Given the description of an element on the screen output the (x, y) to click on. 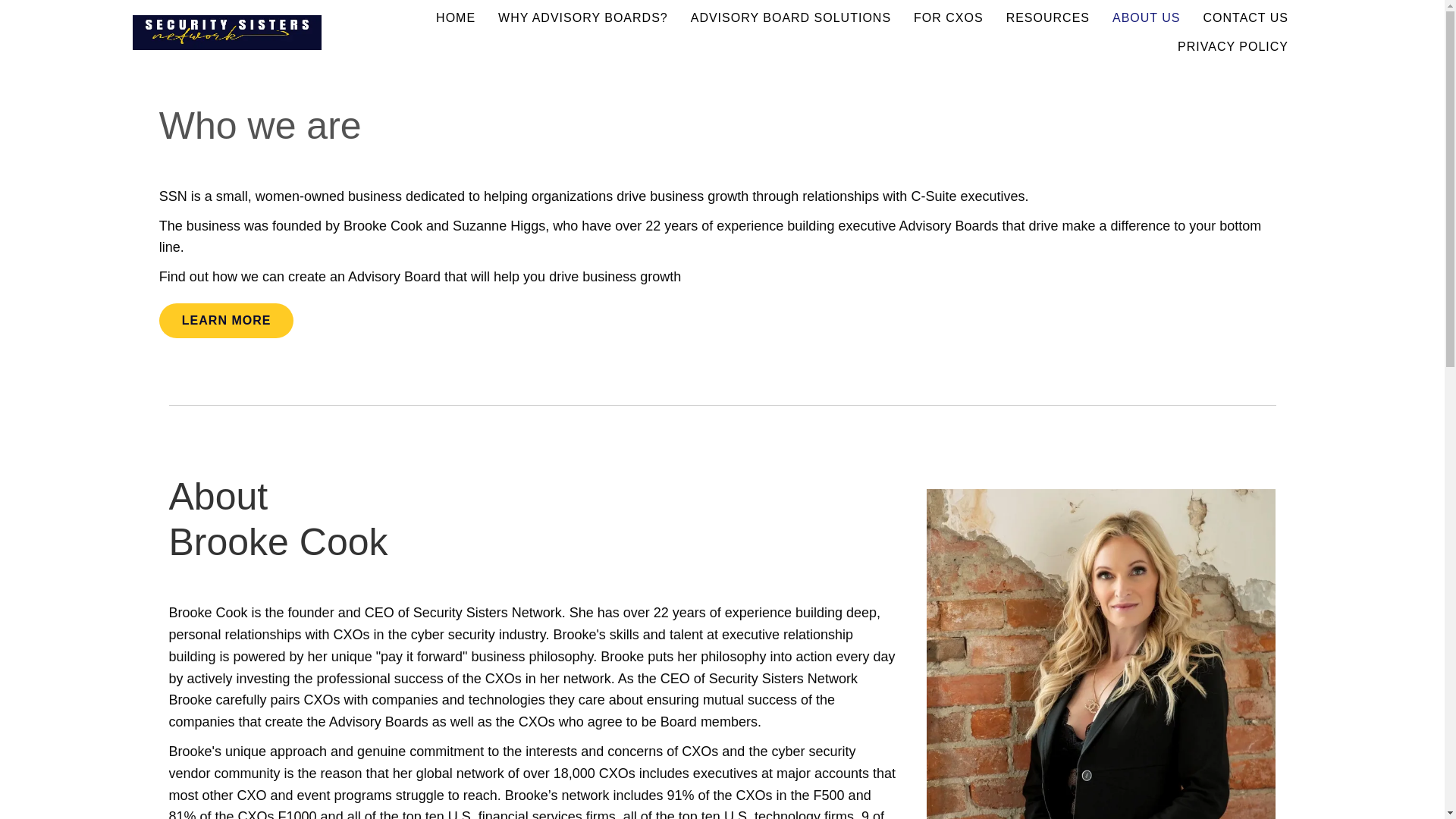
ABOUT US (1146, 18)
FOR CXOS (948, 18)
CONTACT US (1245, 18)
RESOURCES (1047, 18)
PRIVACY POLICY (1233, 46)
LEARN MORE (226, 320)
WHY ADVISORY BOARDS? (582, 18)
ADVISORY BOARD SOLUTIONS (790, 18)
HOME (455, 18)
